Given the description of an element on the screen output the (x, y) to click on. 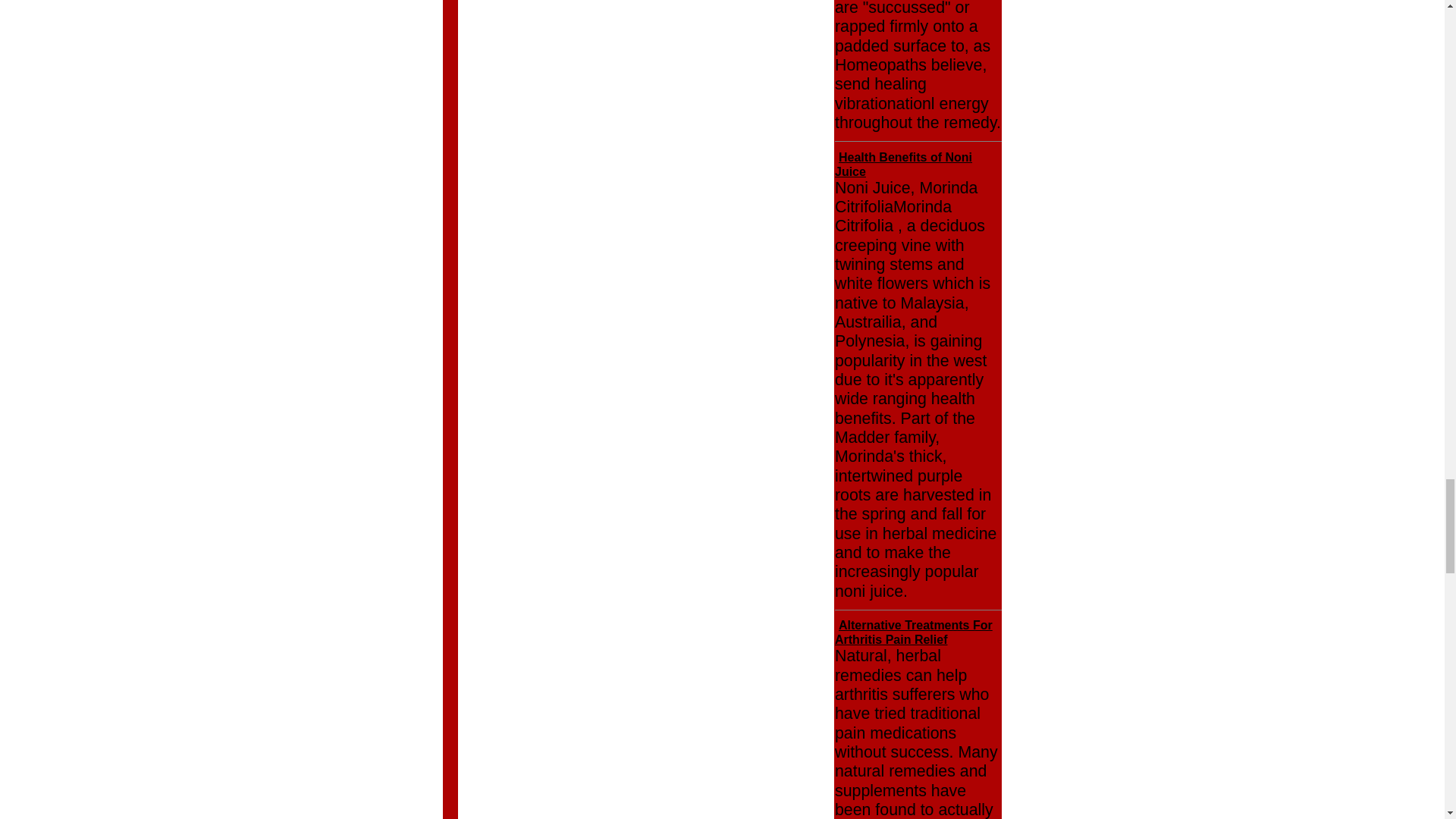
Alternative Treatments For Arthritis Pain Relief (913, 632)
Health Benefits of Noni Juice (903, 164)
